Given the description of an element on the screen output the (x, y) to click on. 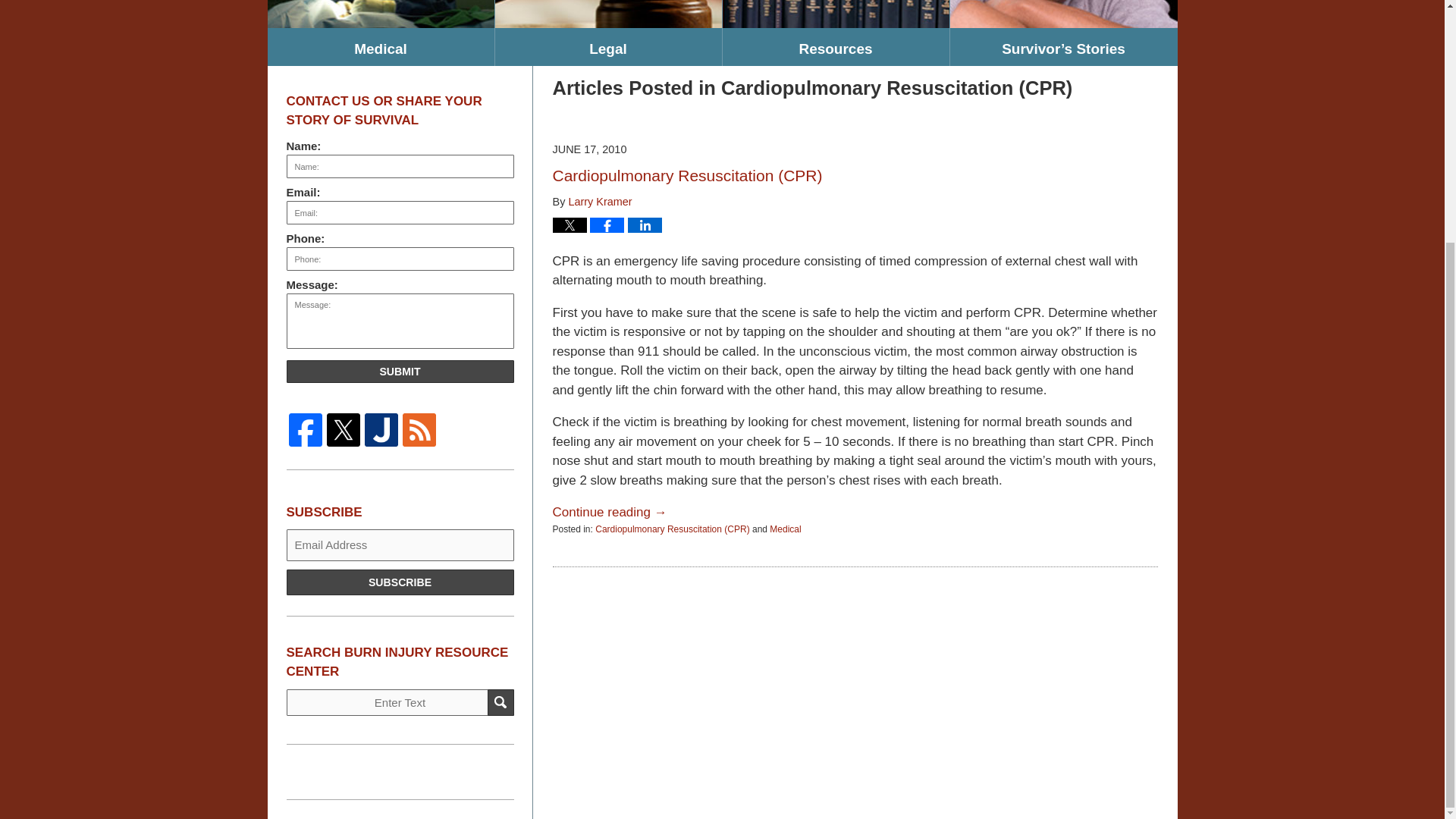
Legal (607, 46)
Medical (785, 529)
SUBSCRIBE (399, 582)
Justia (381, 429)
Facebook (305, 429)
Medical (379, 46)
Twitter (343, 429)
Please enter a valid phone number. (399, 259)
SUBMIT (399, 371)
Feed (419, 429)
SEARCH (499, 702)
Larry Kramer (599, 201)
View all posts in Medical (785, 529)
Resources (835, 46)
